Given the description of an element on the screen output the (x, y) to click on. 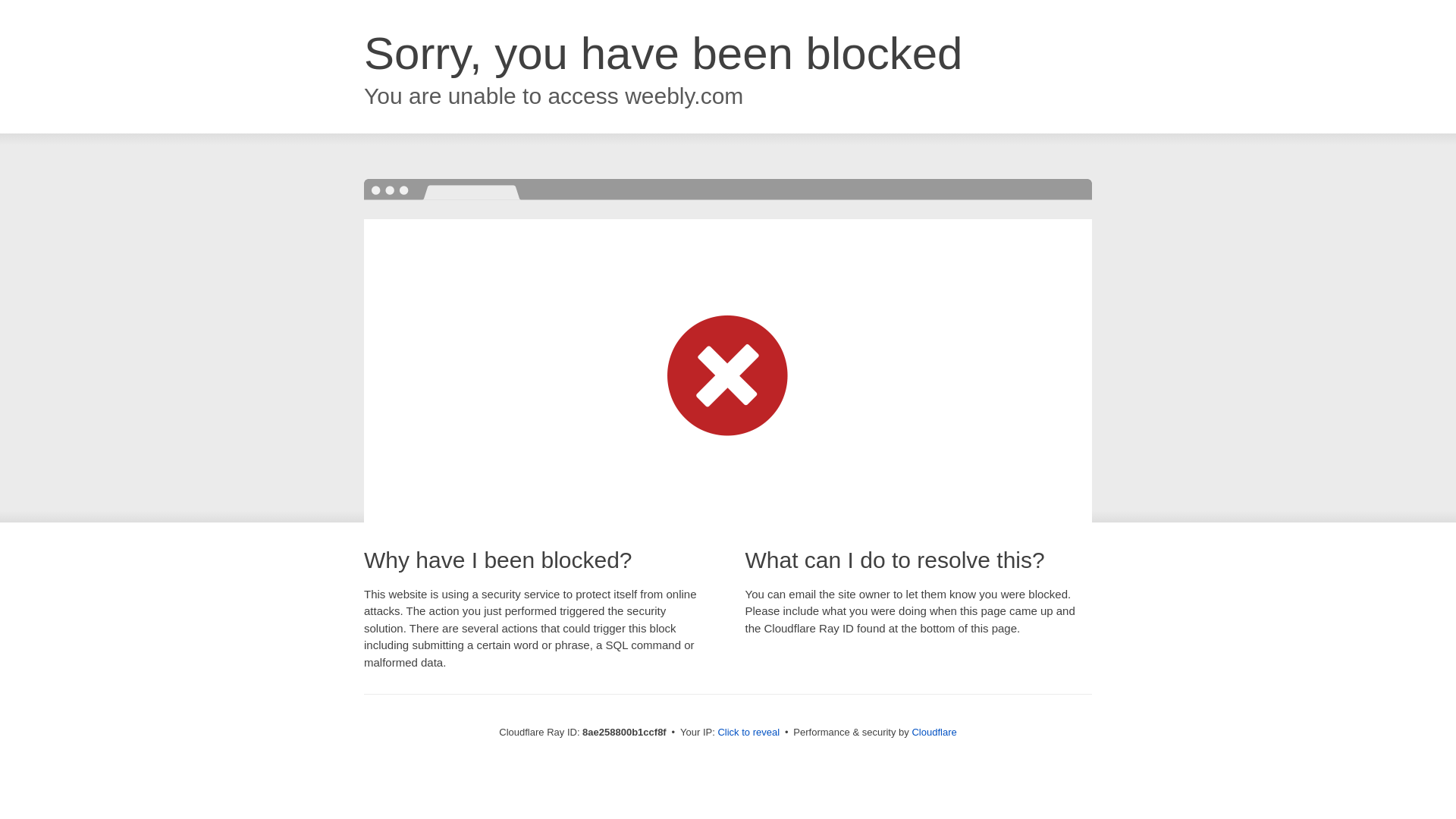
Click to reveal (747, 732)
Cloudflare (933, 731)
